Given the description of an element on the screen output the (x, y) to click on. 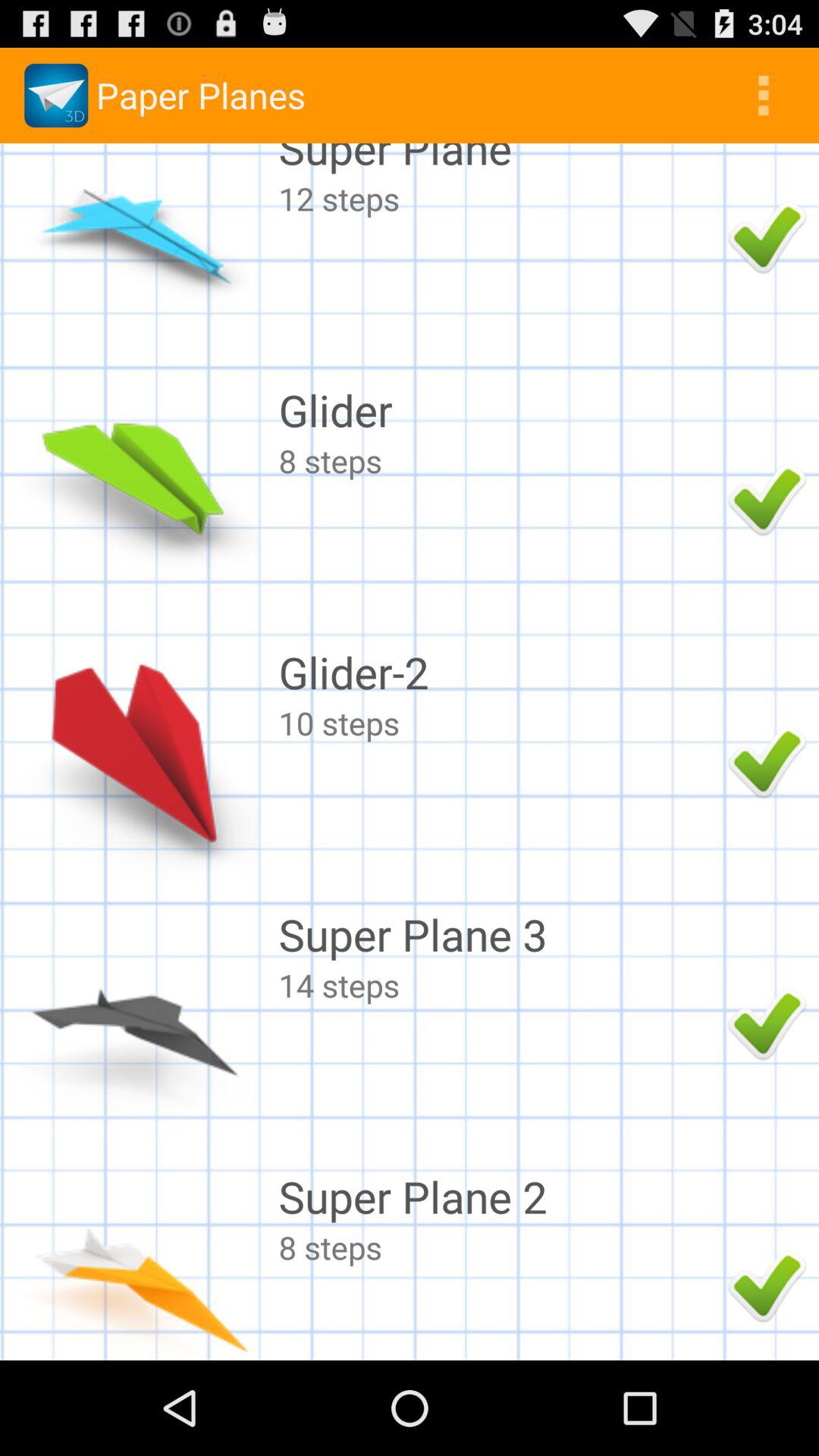
turn off the app to the right of the paper planes icon (763, 95)
